Given the description of an element on the screen output the (x, y) to click on. 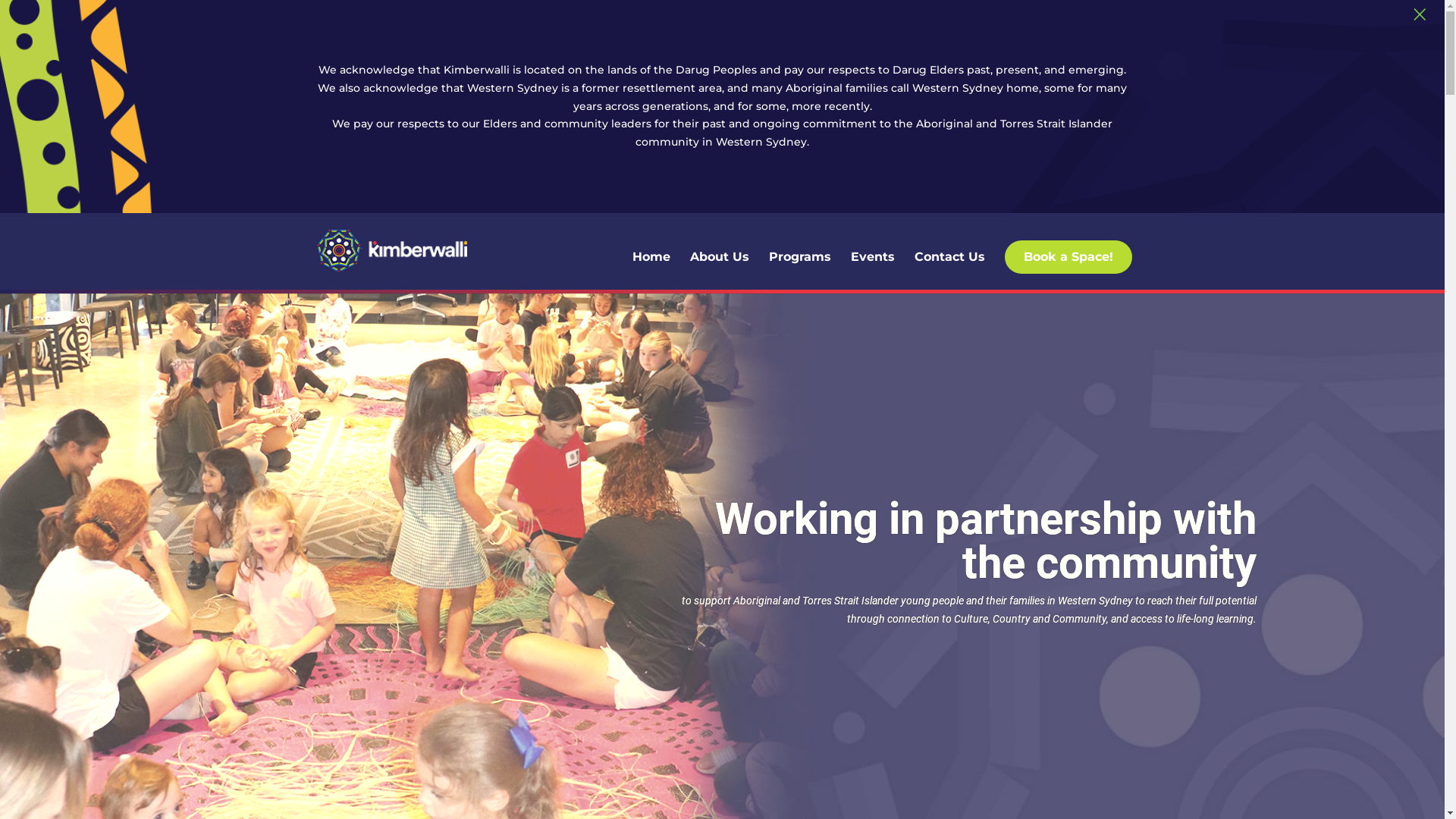
Home Element type: text (651, 270)
Contact Us Element type: text (949, 270)
Events Element type: text (872, 270)
Book a Space! Element type: text (1067, 256)
Programs Element type: text (799, 270)
About Us Element type: text (719, 270)
